Given the description of an element on the screen output the (x, y) to click on. 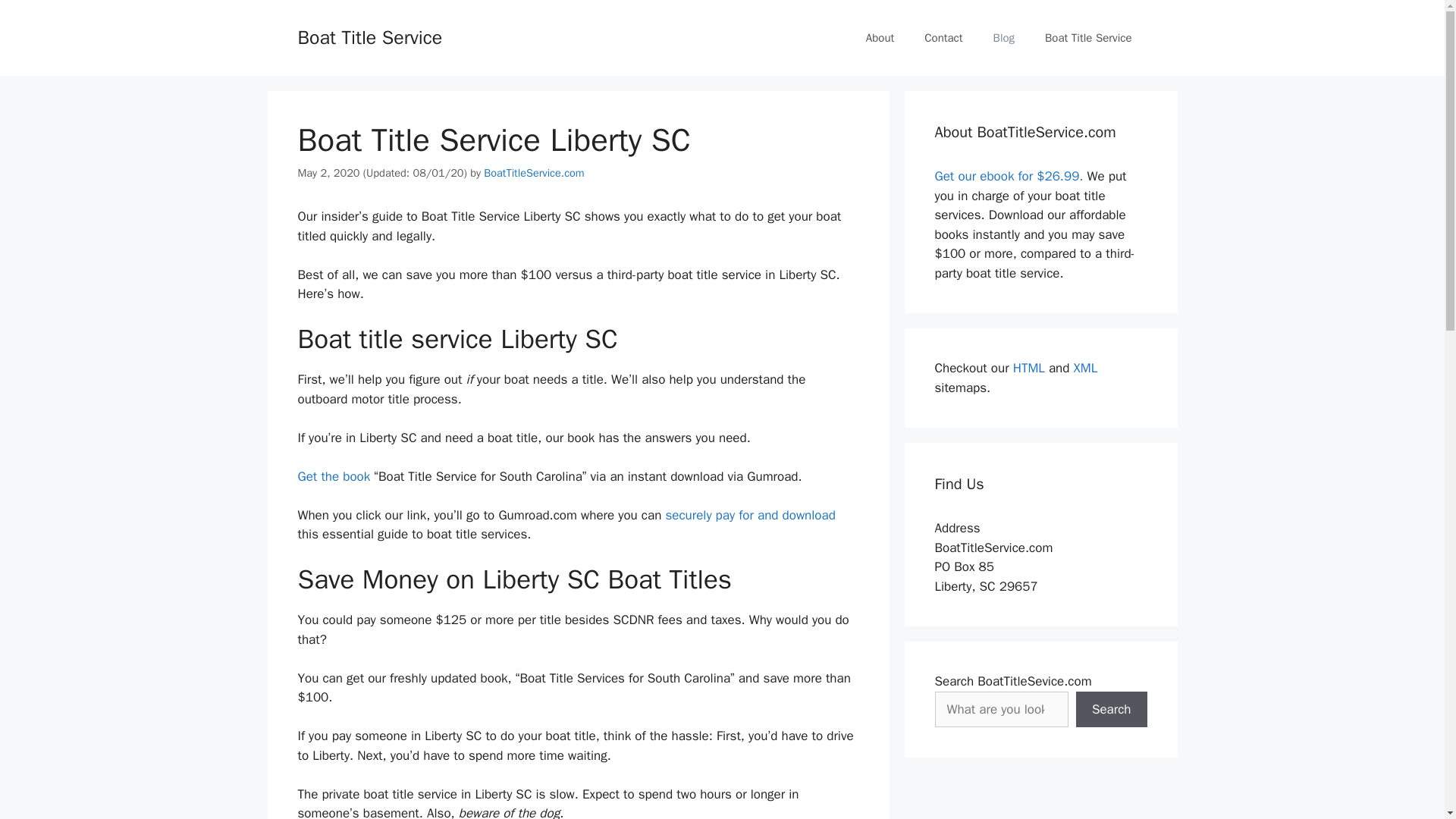
Blog (1003, 37)
Search (1111, 709)
BoatTitleService.com (533, 172)
securely pay for and download (749, 514)
XML (1085, 367)
Contact (942, 37)
View all posts by BoatTitleService.com (533, 172)
Boat Title Service (1088, 37)
HTML (1029, 367)
Get the book (333, 476)
Boat Title Service (369, 37)
About (879, 37)
